Given the description of an element on the screen output the (x, y) to click on. 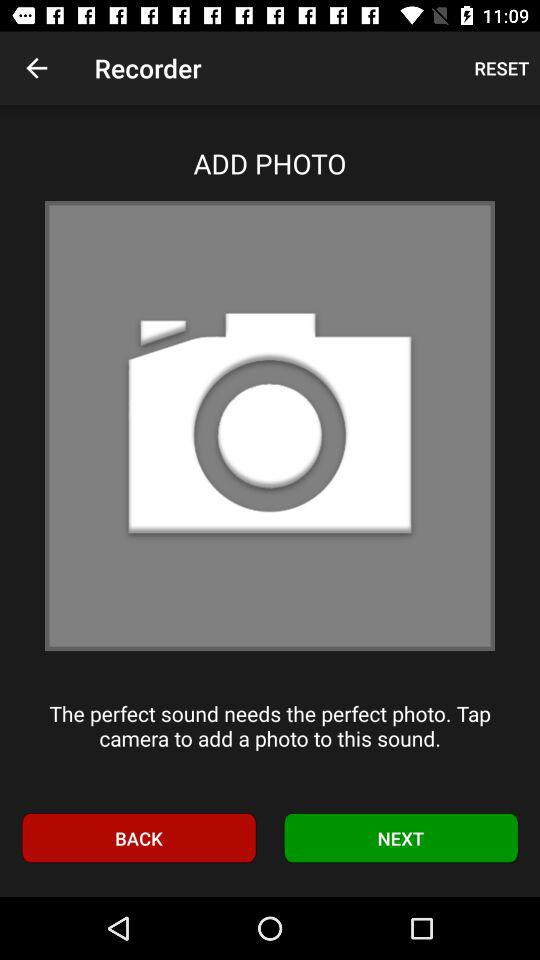
jump until the back (138, 838)
